Given the description of an element on the screen output the (x, y) to click on. 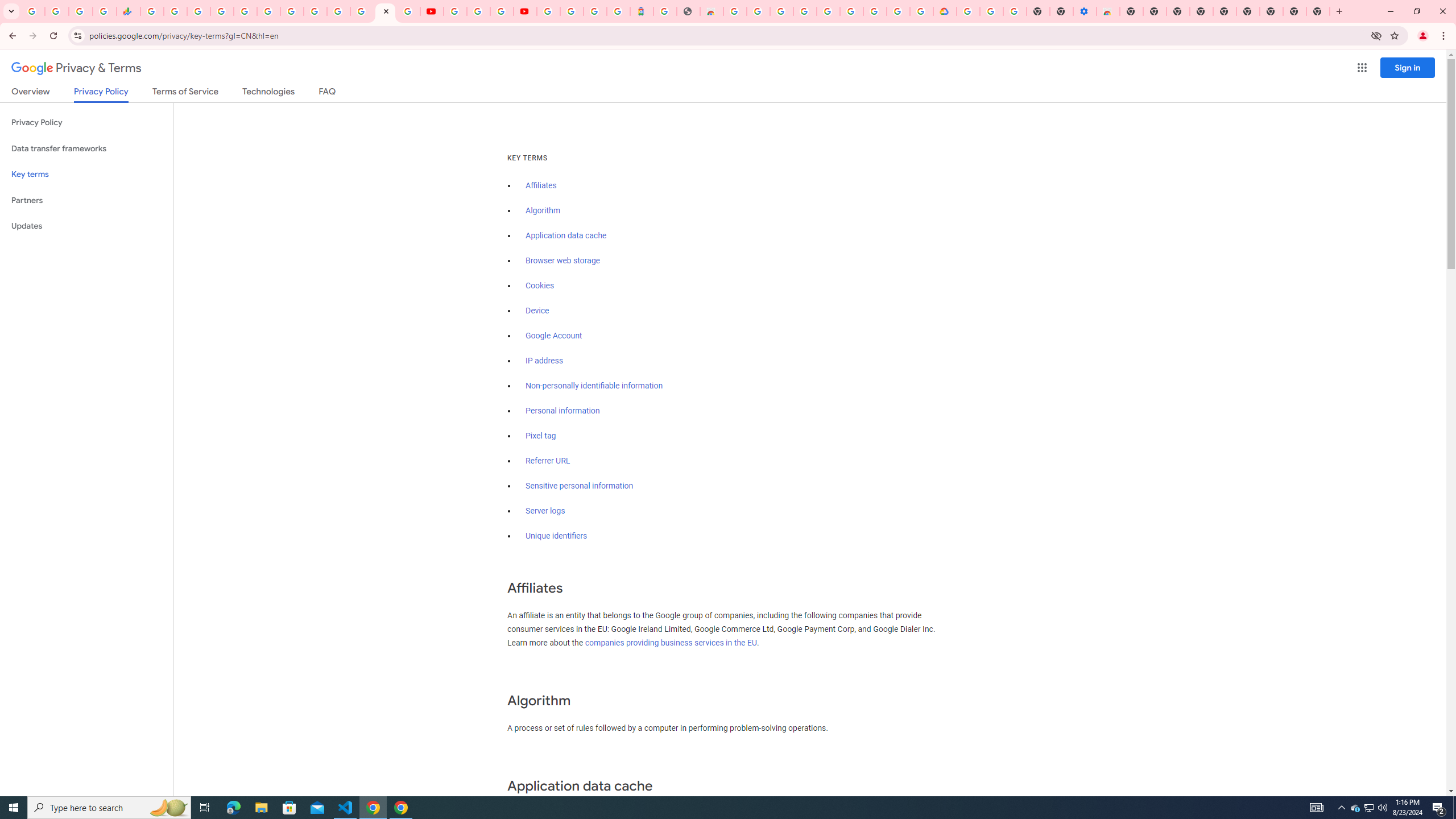
Personal information (562, 411)
New Tab (1131, 11)
Technologies (268, 93)
Sign in - Google Accounts (571, 11)
Create your Google Account (757, 11)
Turn cookies on or off - Computer - Google Account Help (1015, 11)
Chrome Web Store - Household (711, 11)
